Given the description of an element on the screen output the (x, y) to click on. 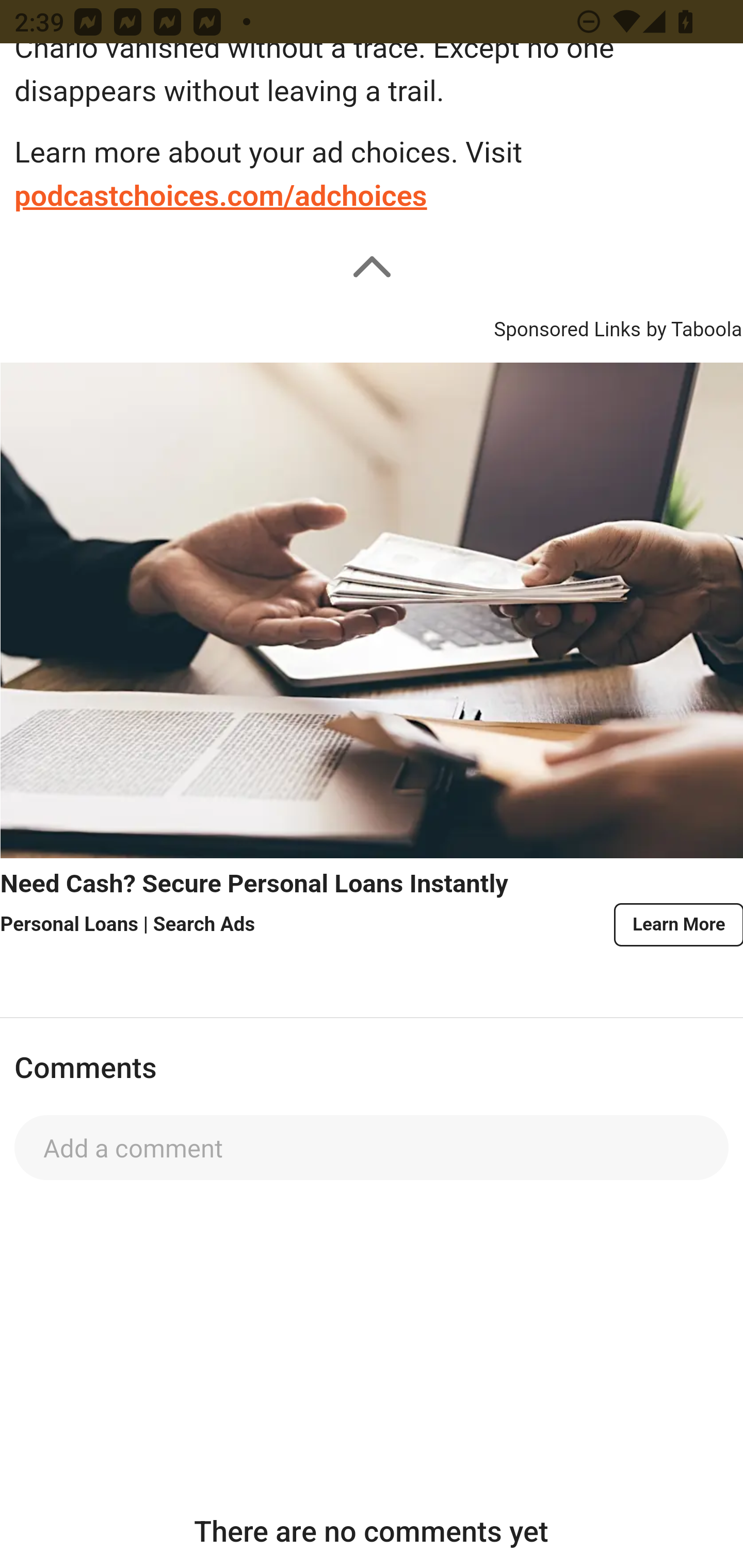
podcastchoices.com/adchoices (220, 195)
Sponsored Links (566, 325)
by Taboola (693, 325)
Learn More (677, 924)
Add a comment (371, 1147)
